Given the description of an element on the screen output the (x, y) to click on. 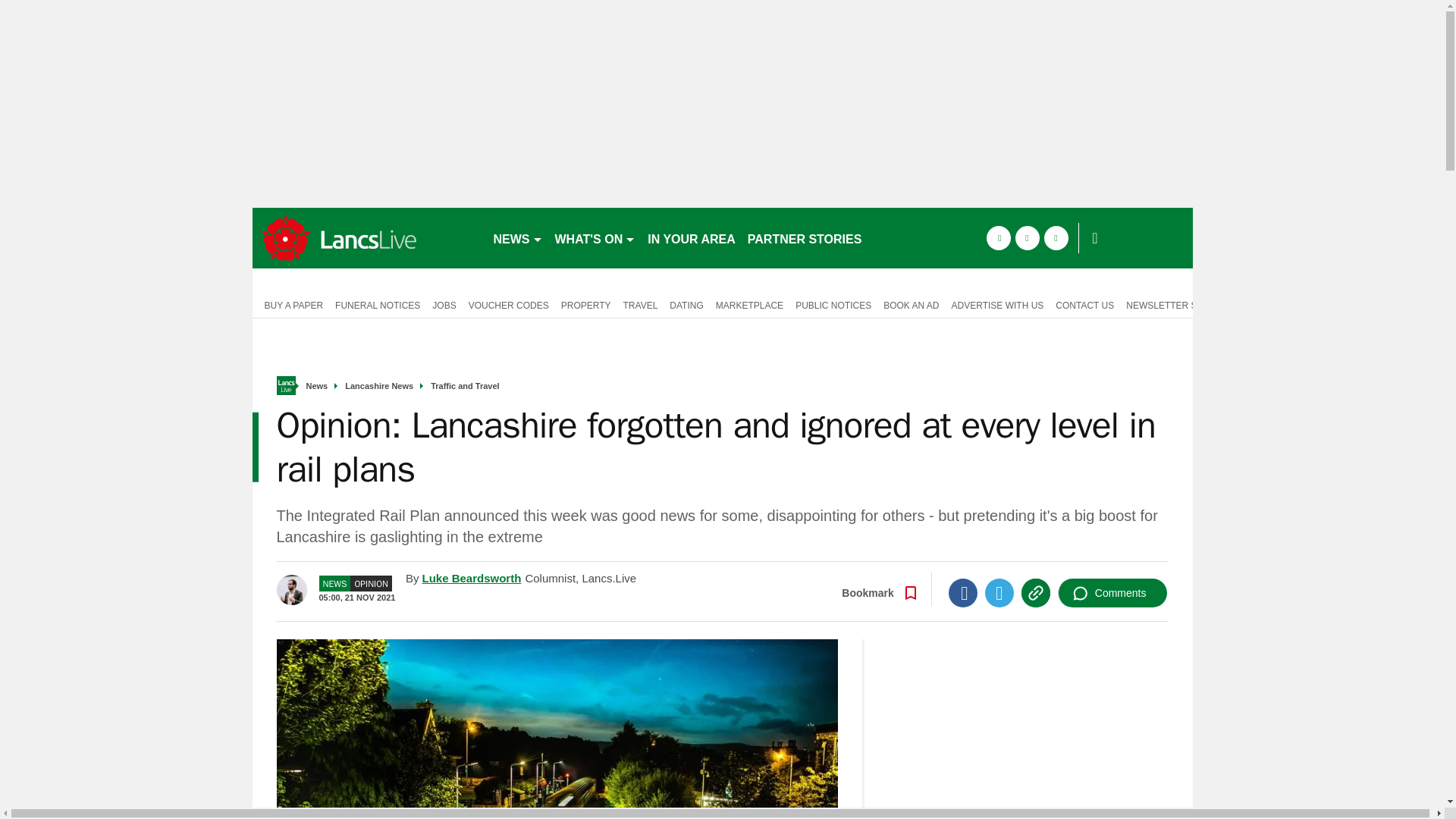
facebook (997, 238)
IN YOUR AREA (691, 238)
PROPERTY (585, 304)
FUNERAL NOTICES (377, 304)
PUBLIC NOTICES (833, 304)
ADVERTISE WITH US (996, 304)
MARKETPLACE (749, 304)
accrington (365, 238)
Facebook (962, 592)
twitter (1026, 238)
BOOK AN AD (910, 304)
JOBS (443, 304)
BUY A PAPER (290, 304)
NEWS (517, 238)
Twitter (999, 592)
